Given the description of an element on the screen output the (x, y) to click on. 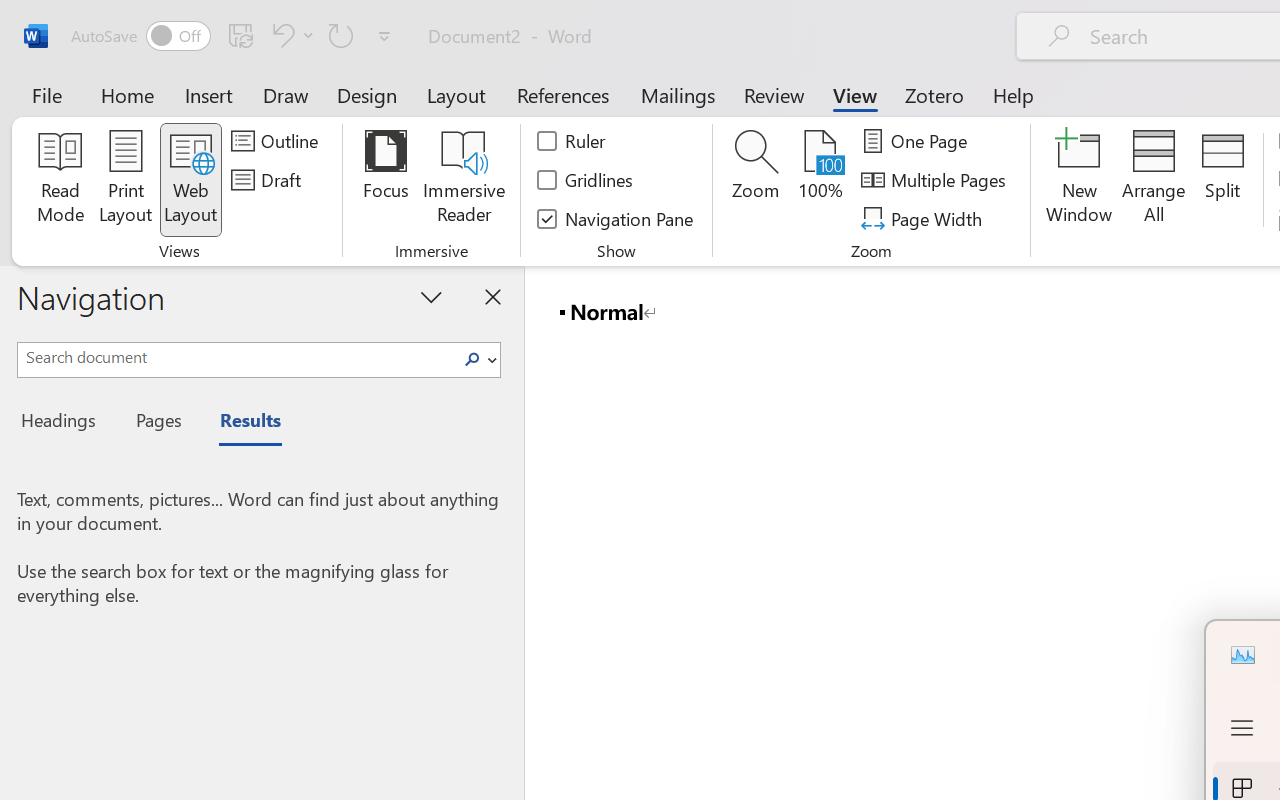
Search (478, 359)
Search document (236, 357)
Page Width (924, 218)
One Page (917, 141)
New Window (1079, 179)
Arrange All (1153, 179)
